Given the description of an element on the screen output the (x, y) to click on. 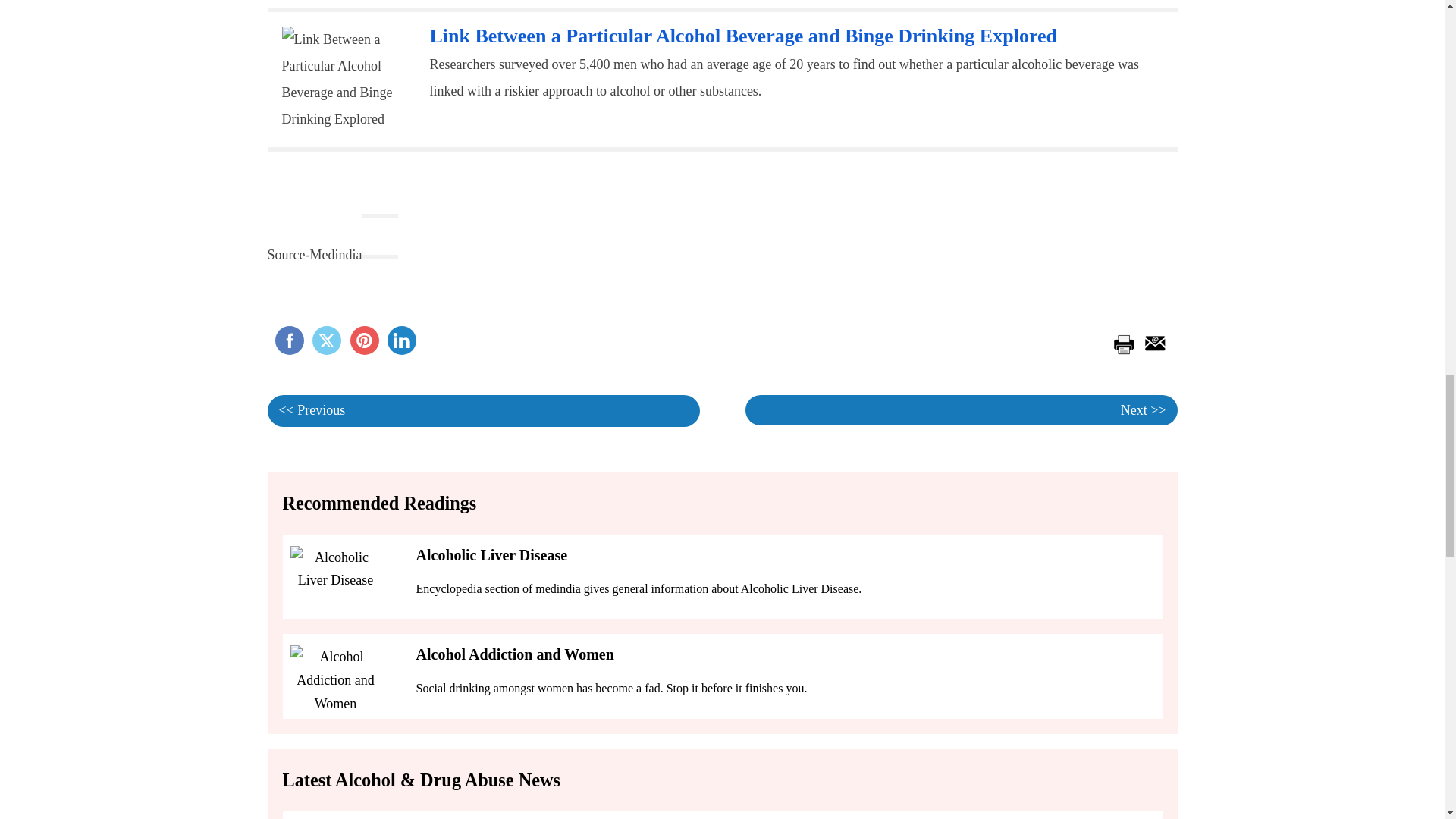
Facebook (288, 339)
Print This Page (1121, 340)
Linkedin (401, 339)
Facebook (288, 339)
Twitter (326, 339)
Linkedin (401, 339)
Pinterest (364, 339)
Email This (1152, 340)
Alcoholic Liver Disease (490, 555)
Twitter (326, 339)
